Given the description of an element on the screen output the (x, y) to click on. 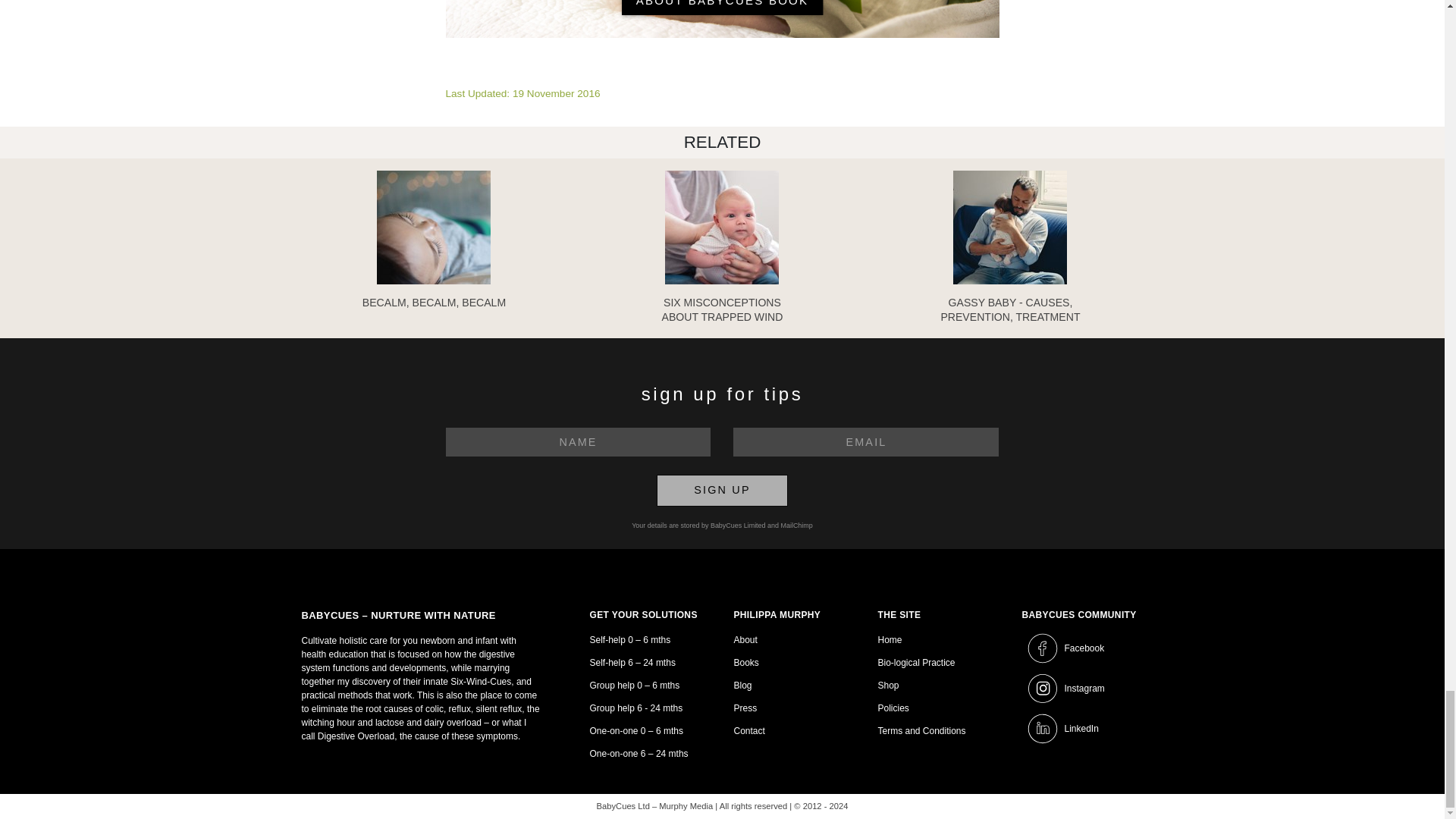
Sign Up (721, 490)
